Given the description of an element on the screen output the (x, y) to click on. 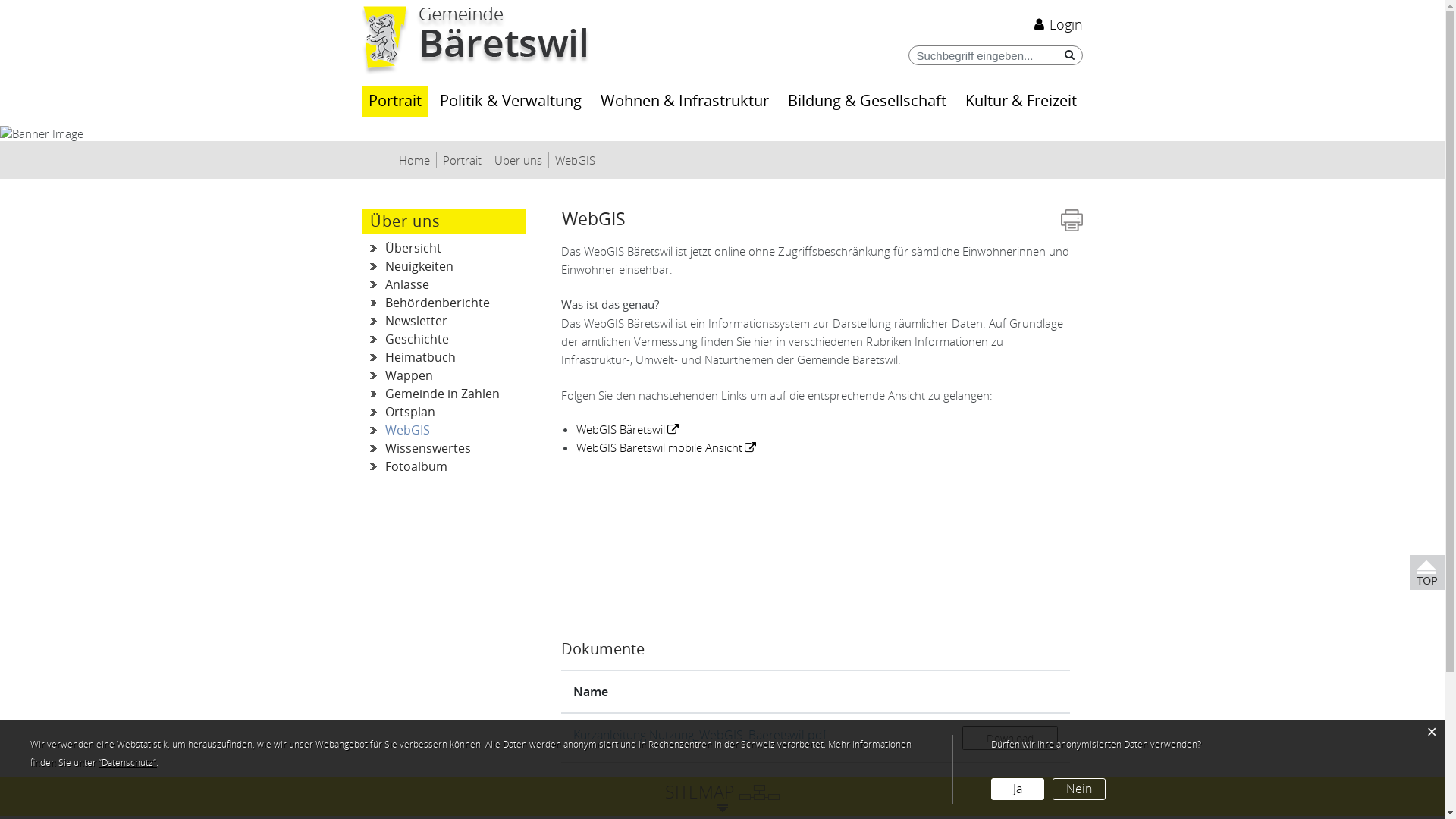
WebGIS Element type: text (575, 159)
Bildung & Gesellschaft Element type: text (867, 101)
Newsletter Element type: text (443, 321)
Nein Element type: text (1078, 789)
Wissenswertes Element type: text (443, 448)
Wappen Element type: text (443, 375)
WebGIS Element type: text (443, 430)
Neuigkeiten Element type: text (443, 266)
Download Element type: text (1009, 737)
Login Element type: text (1055, 24)
Wohnen & Infrastruktur Element type: text (684, 101)
Ja Element type: text (1017, 789)
SITEMAP Element type: text (722, 791)
Kultur & Freizeit Element type: text (1020, 101)
Gemeinde in Zahlen Element type: text (443, 393)
Portrait Element type: text (394, 101)
Home Element type: text (414, 159)
Geschichte Element type: text (443, 339)
Politik & Verwaltung Element type: text (510, 101)
Ortsplan Element type: text (443, 412)
Portrait Element type: text (462, 159)
Kurzanleitung Nutzung_WebGIS_Baeretswil.pdf Element type: text (699, 734)
Fotoalbum Element type: text (443, 466)
Heimatbuch Element type: text (443, 357)
